Given the description of an element on the screen output the (x, y) to click on. 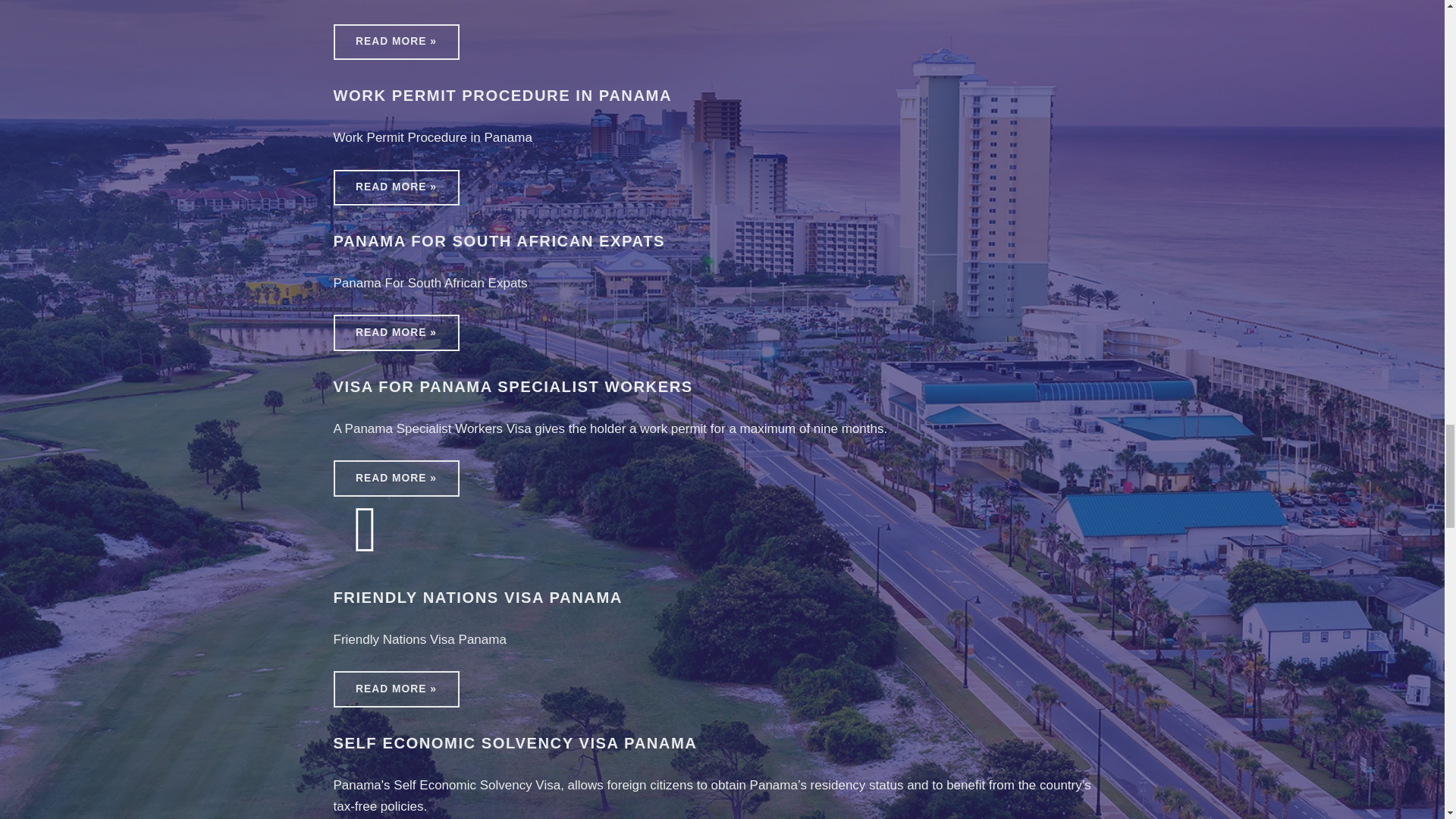
PANAMA FOR SOUTH AFRICAN EXPATS (499, 240)
VISA FOR PANAMA SPECIALIST WORKERS (513, 386)
Friendly Nations Visa Panama (365, 529)
WORK PERMIT PROCEDURE IN PANAMA (502, 95)
